Given the description of an element on the screen output the (x, y) to click on. 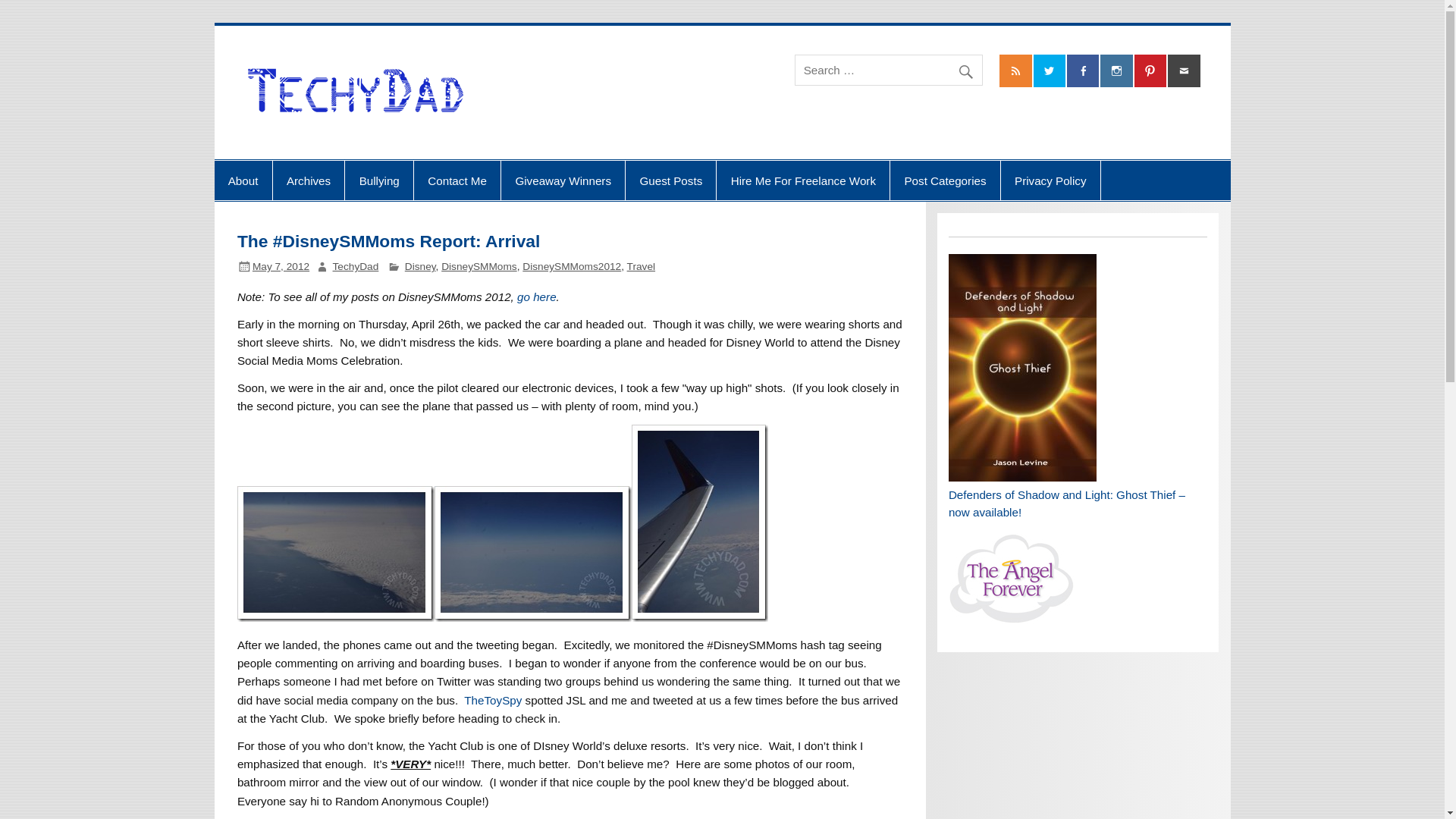
TechyDad (355, 266)
Privacy Policy (1050, 179)
Hire Me For Freelance Work (802, 179)
go here (536, 296)
DisneySMMoms (478, 266)
Travel (641, 266)
Contact Me (456, 179)
TechyDad (555, 69)
About (242, 179)
TheToySpy (492, 699)
Giveaway Winners (562, 179)
IMGP5776 (532, 553)
Bullying (379, 179)
Guest Posts (671, 179)
View all posts by TechyDad (355, 266)
